Given the description of an element on the screen output the (x, y) to click on. 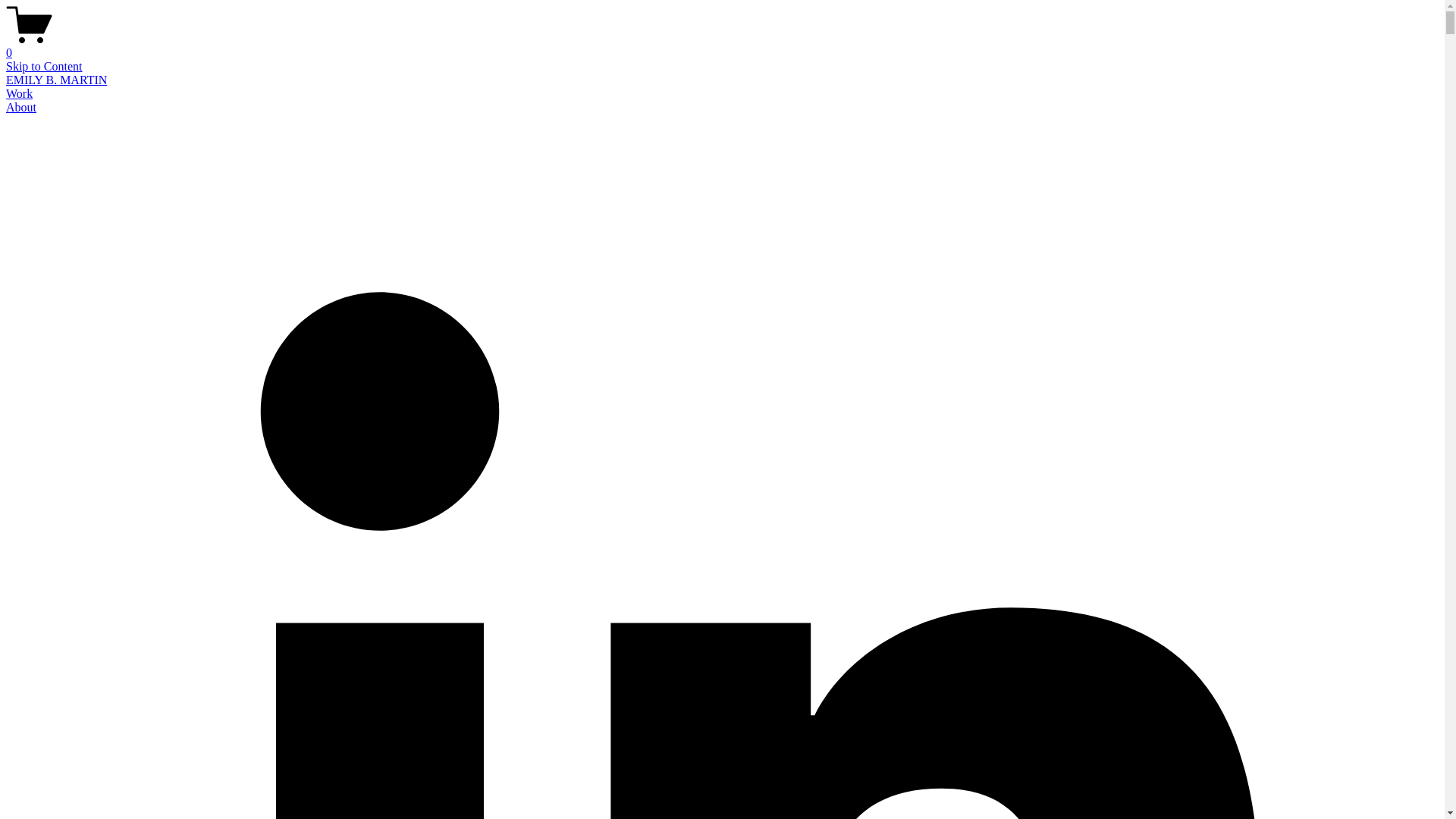
About (20, 106)
Work (18, 92)
EMILY B. MARTIN (55, 79)
Skip to Content (43, 65)
